Given the description of an element on the screen output the (x, y) to click on. 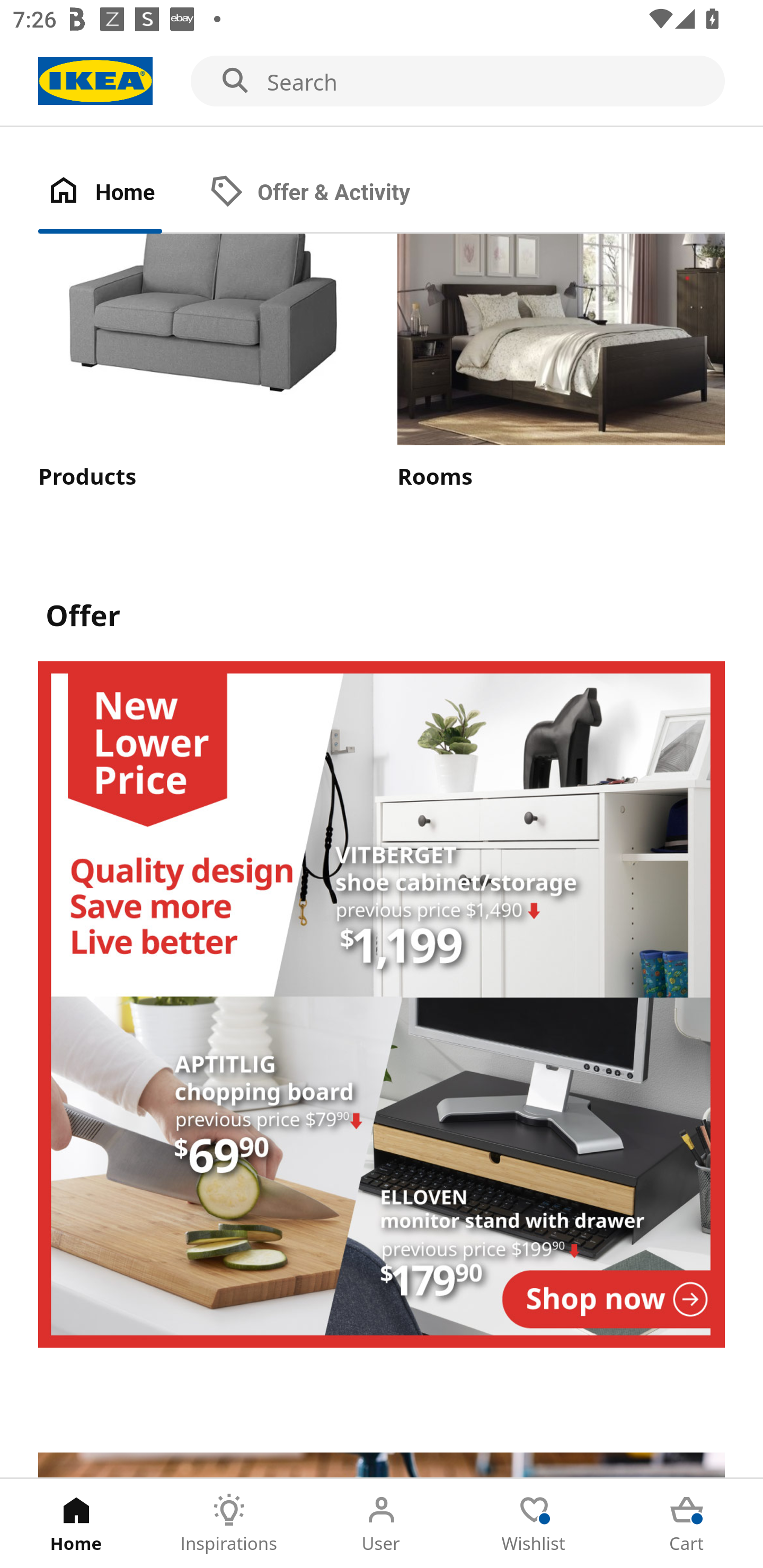
Search (381, 81)
Home
Tab 1 of 2 (118, 192)
Offer & Activity
Tab 2 of 2 (327, 192)
Products (201, 362)
Rooms (560, 362)
Home
Tab 1 of 5 (76, 1522)
Inspirations
Tab 2 of 5 (228, 1522)
User
Tab 3 of 5 (381, 1522)
Wishlist
Tab 4 of 5 (533, 1522)
Cart
Tab 5 of 5 (686, 1522)
